Given the description of an element on the screen output the (x, y) to click on. 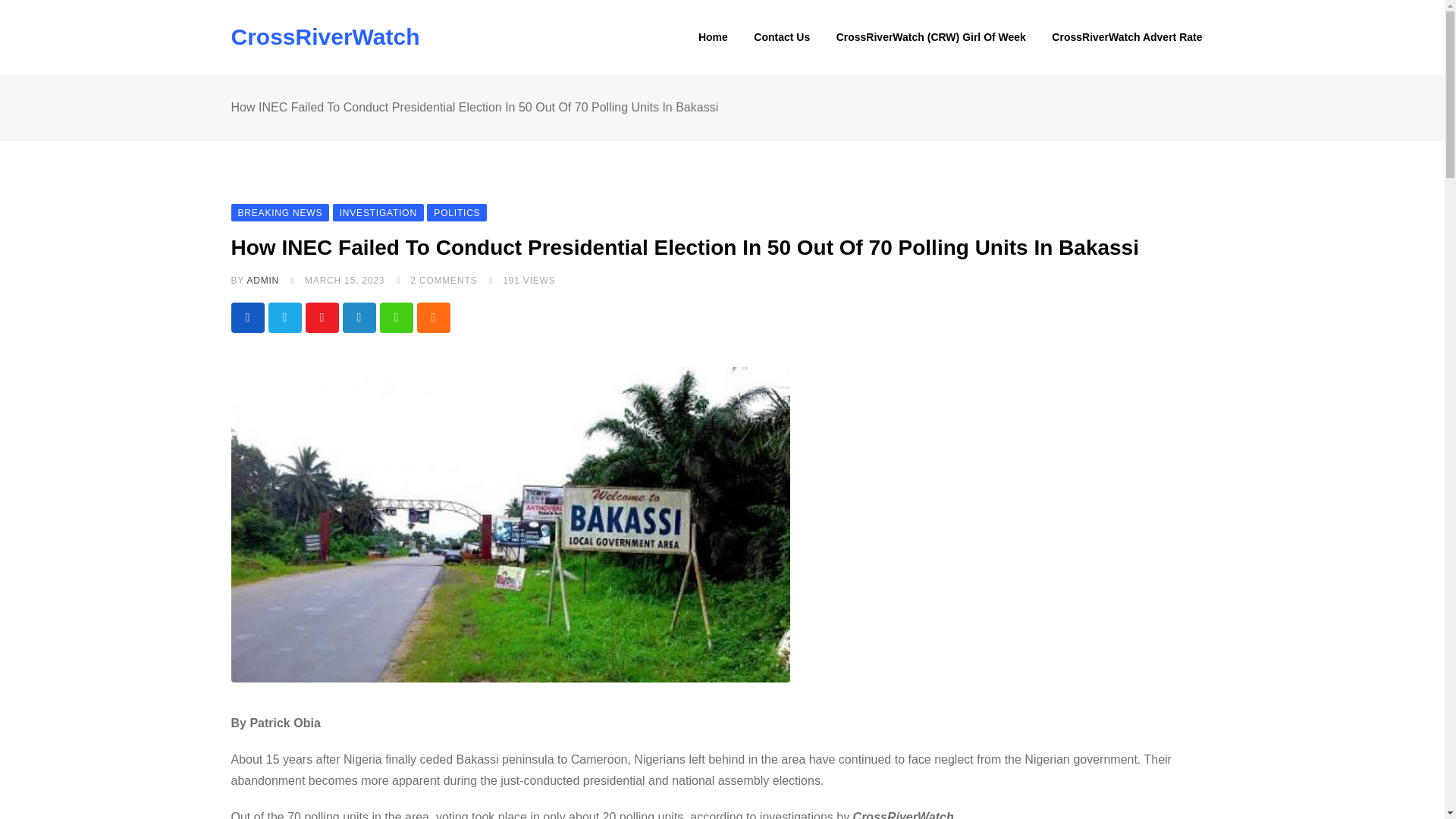
Contact Us (781, 37)
Youtube (320, 317)
CrossRiverWatch Advert Rate (1126, 37)
LinkedIn (358, 317)
Whatsapp (395, 317)
POLITICS (456, 211)
CrossRiverWatch (324, 36)
ADMIN (262, 280)
BREAKING NEWS (279, 211)
Posts by Admin (262, 280)
